Given the description of an element on the screen output the (x, y) to click on. 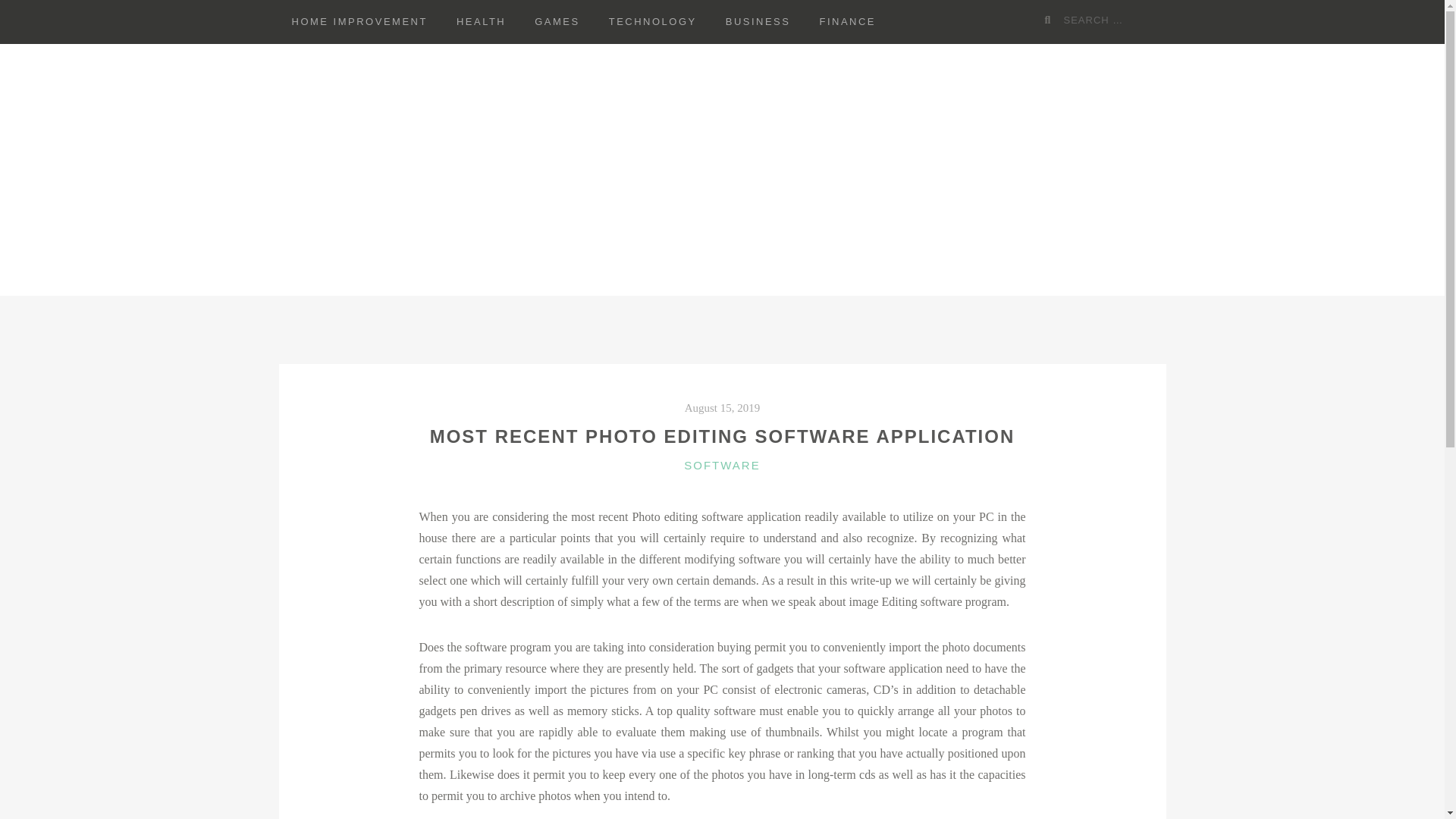
FINANCE (847, 21)
August 15, 2019 (722, 408)
HEALTH (481, 21)
SOFTWARE (722, 464)
GAMES (556, 21)
TECHNOLOGY (652, 21)
HOME IMPROVEMENT (360, 21)
BUSINESS (758, 21)
